Given the description of an element on the screen output the (x, y) to click on. 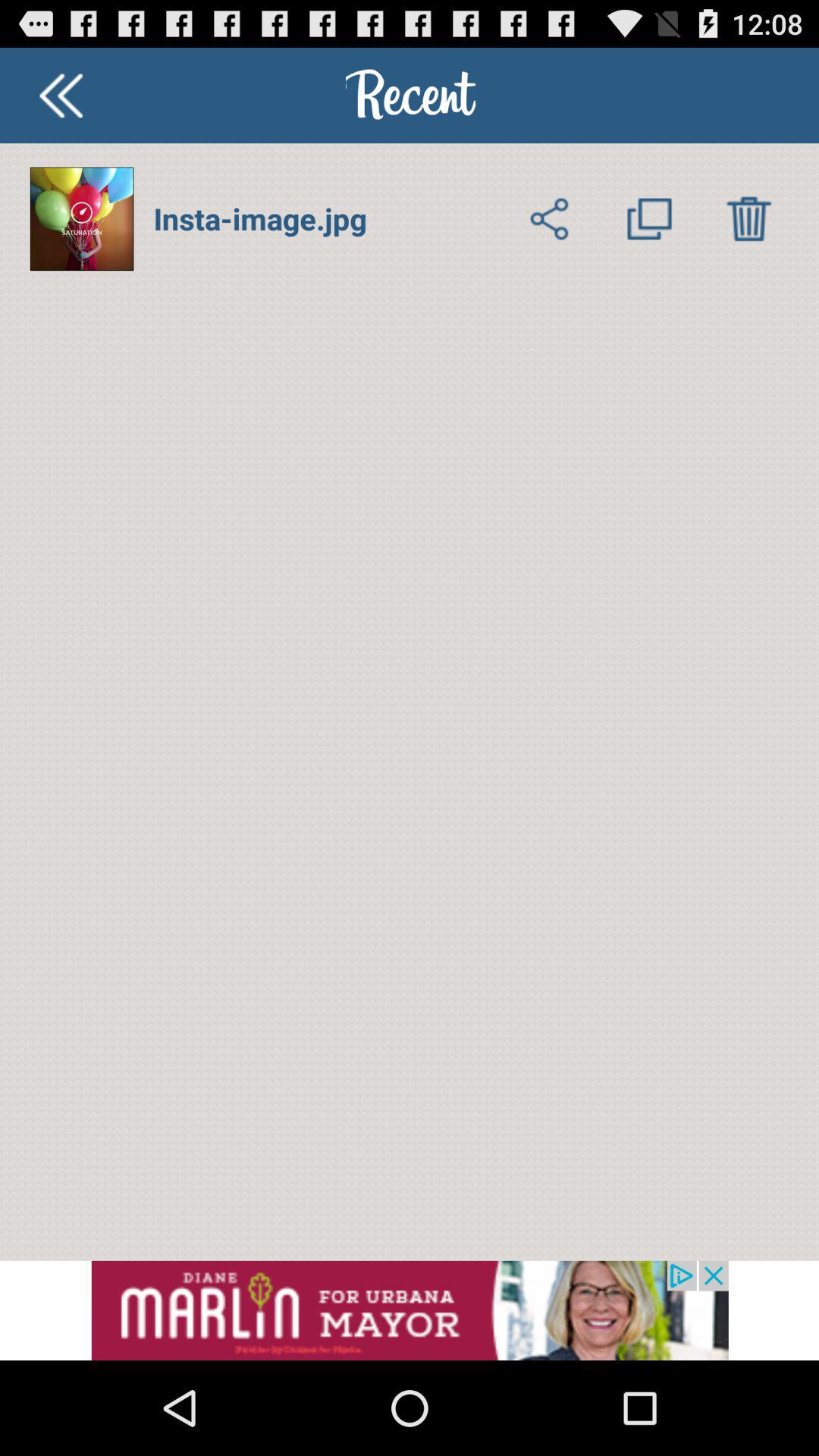
share button (549, 218)
